Given the description of an element on the screen output the (x, y) to click on. 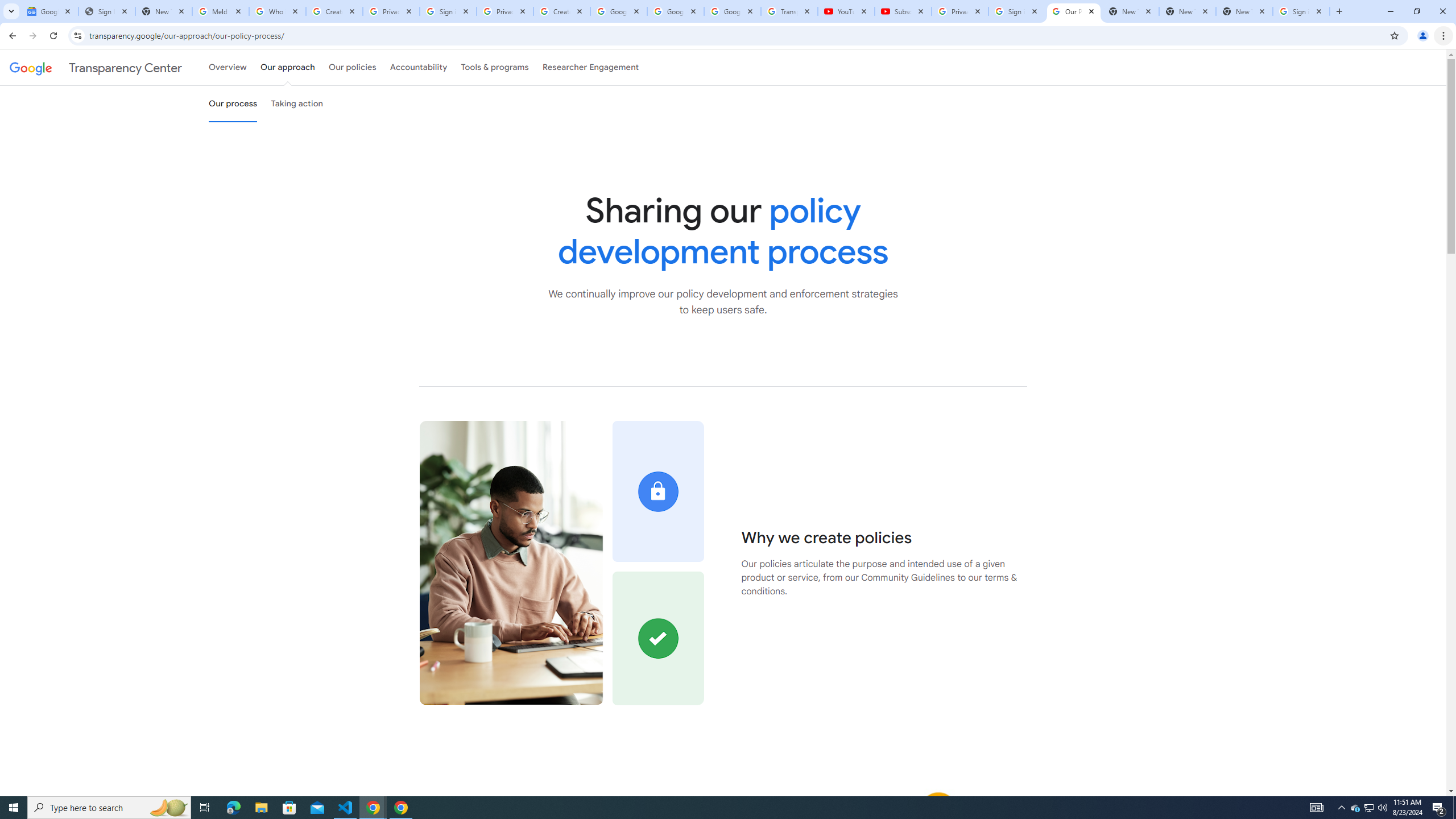
Transparency Center (95, 67)
